Given the description of an element on the screen output the (x, y) to click on. 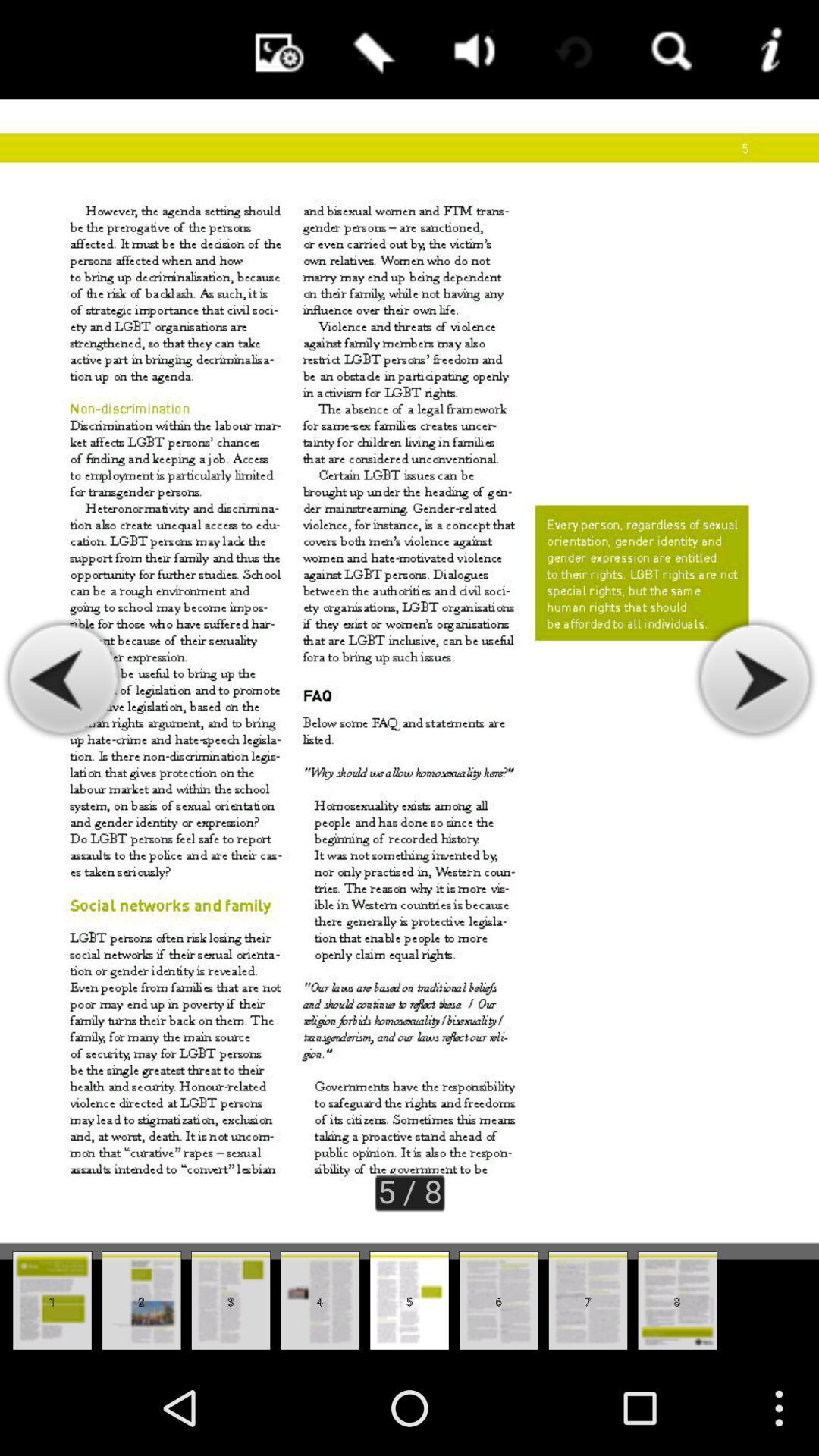
scroll until 5 / 8 (409, 1191)
